Given the description of an element on the screen output the (x, y) to click on. 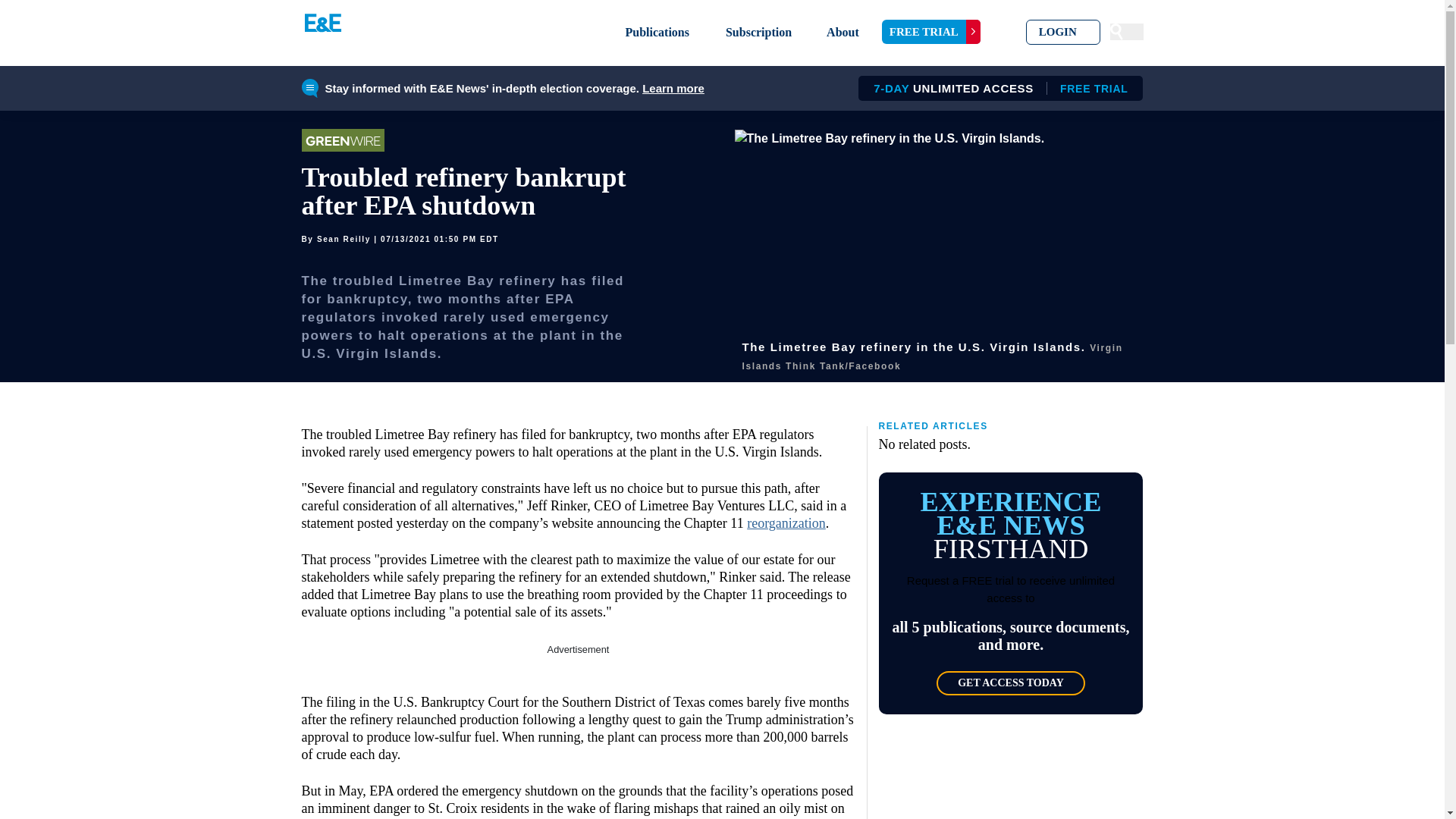
Subscription (758, 32)
LOGIN (1063, 32)
FREE TRIAL (930, 31)
GET ACCESS TODAY (1010, 682)
reorganization (785, 522)
About (843, 32)
Publications (656, 32)
Learn more (673, 88)
